Given the description of an element on the screen output the (x, y) to click on. 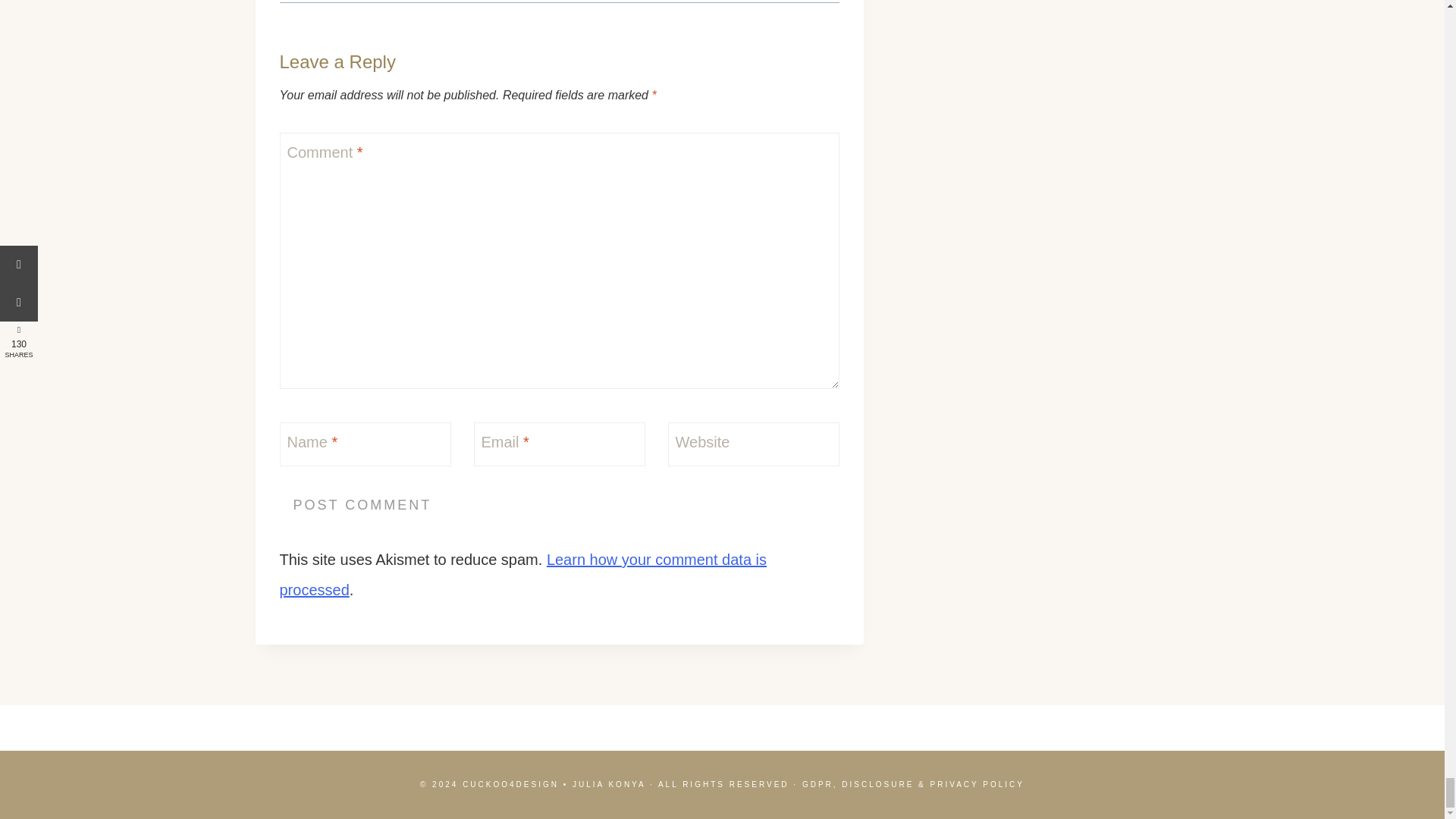
Post Comment (362, 504)
